Given the description of an element on the screen output the (x, y) to click on. 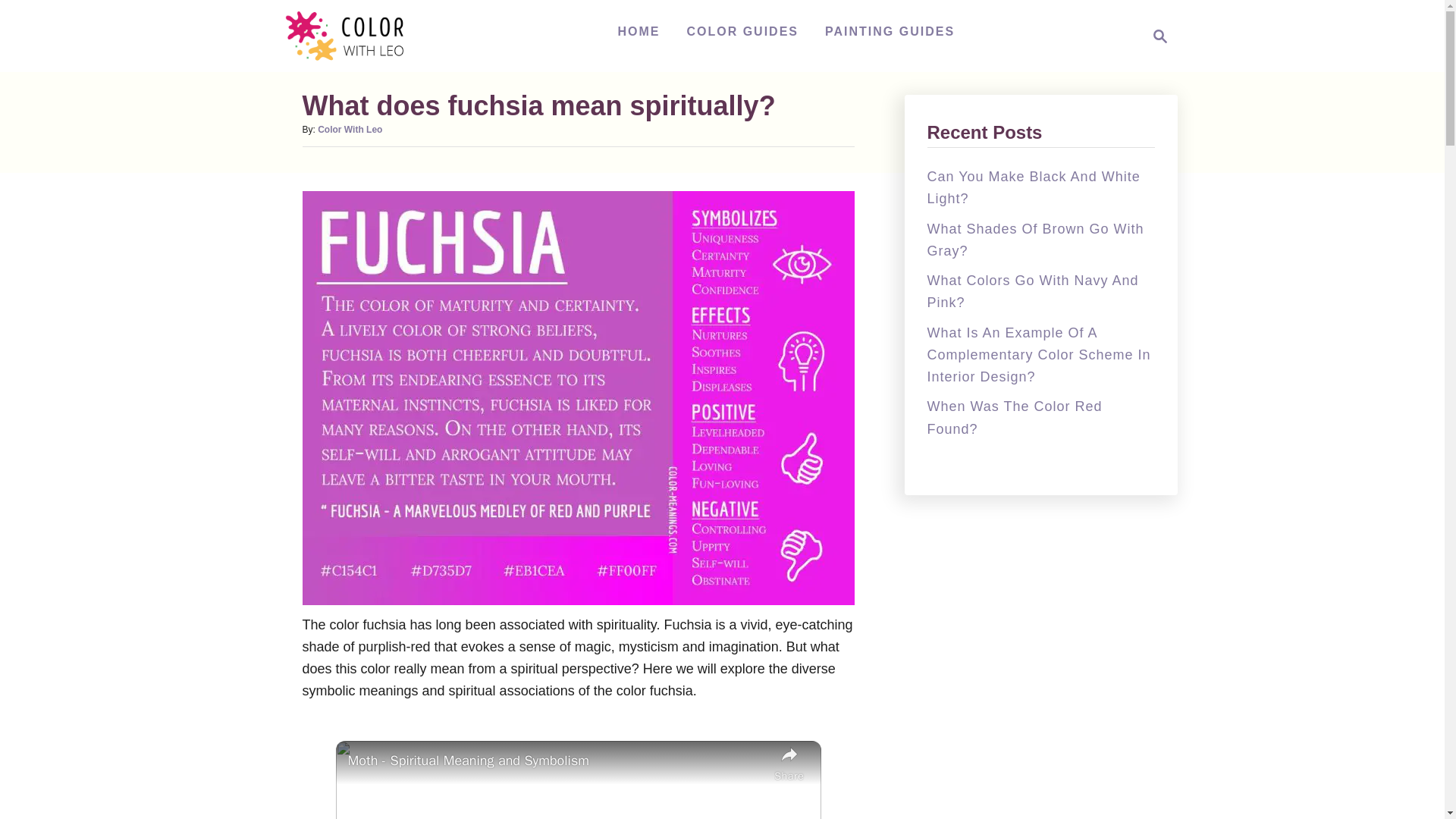
Color With Leo (353, 35)
PAINTING GUIDES (889, 31)
COLOR GUIDES (742, 31)
Moth - Spiritual Meaning and Symbolism (557, 761)
Can You Make Black And White Light? (1033, 187)
What Colors Go With Navy And Pink? (1032, 291)
Color With Leo (1155, 36)
What Shades Of Brown Go With Gray? (349, 129)
HOME (1034, 239)
Magnifying Glass (638, 31)
When Was The Color Red Found? (1160, 36)
